Given the description of an element on the screen output the (x, y) to click on. 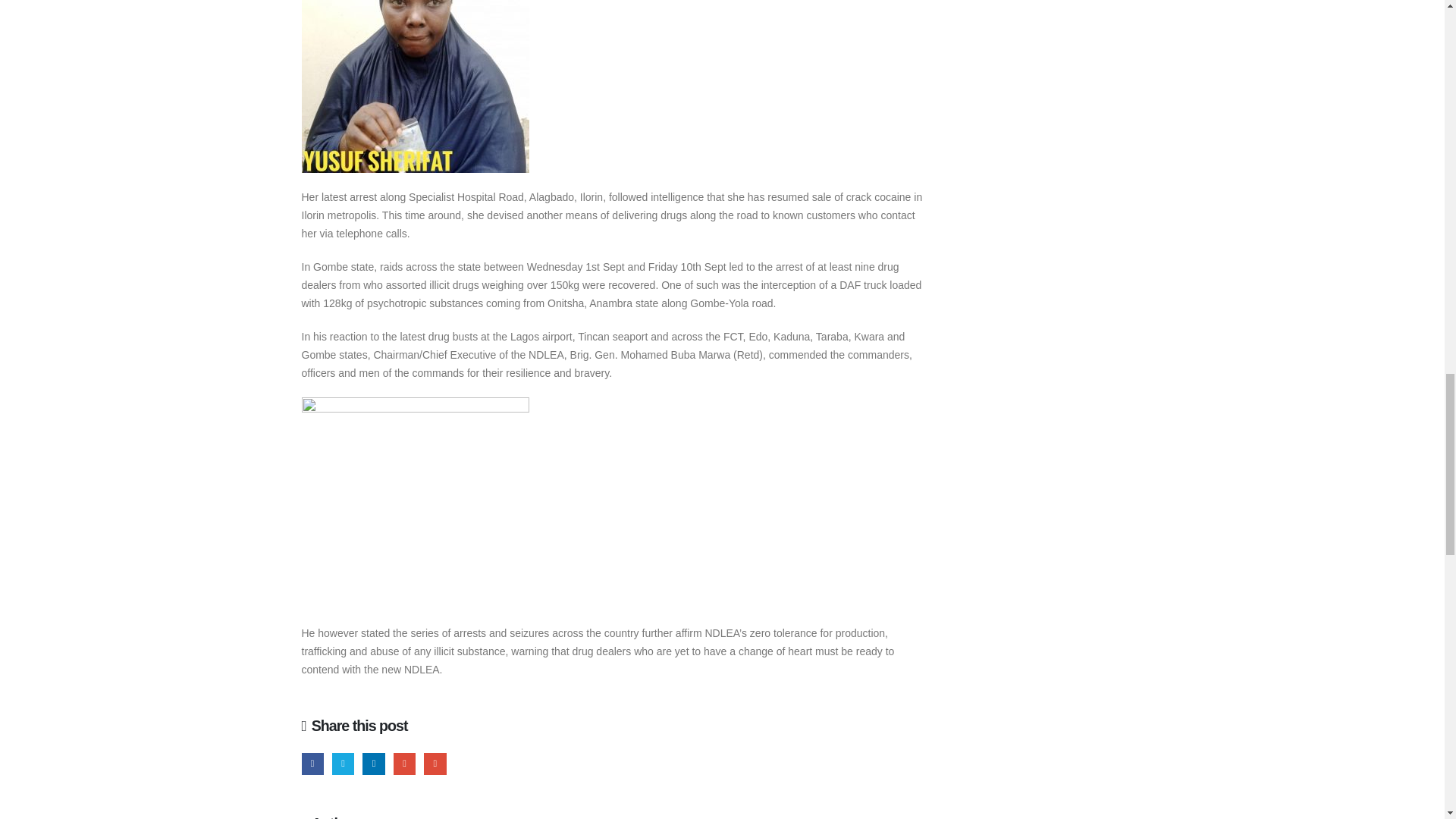
Facebook (312, 763)
LinkedIn (373, 763)
Email (434, 763)
Facebook (312, 763)
Email (434, 763)
Twitter (342, 763)
Twitter (342, 763)
LinkedIn (373, 763)
